Given the description of an element on the screen output the (x, y) to click on. 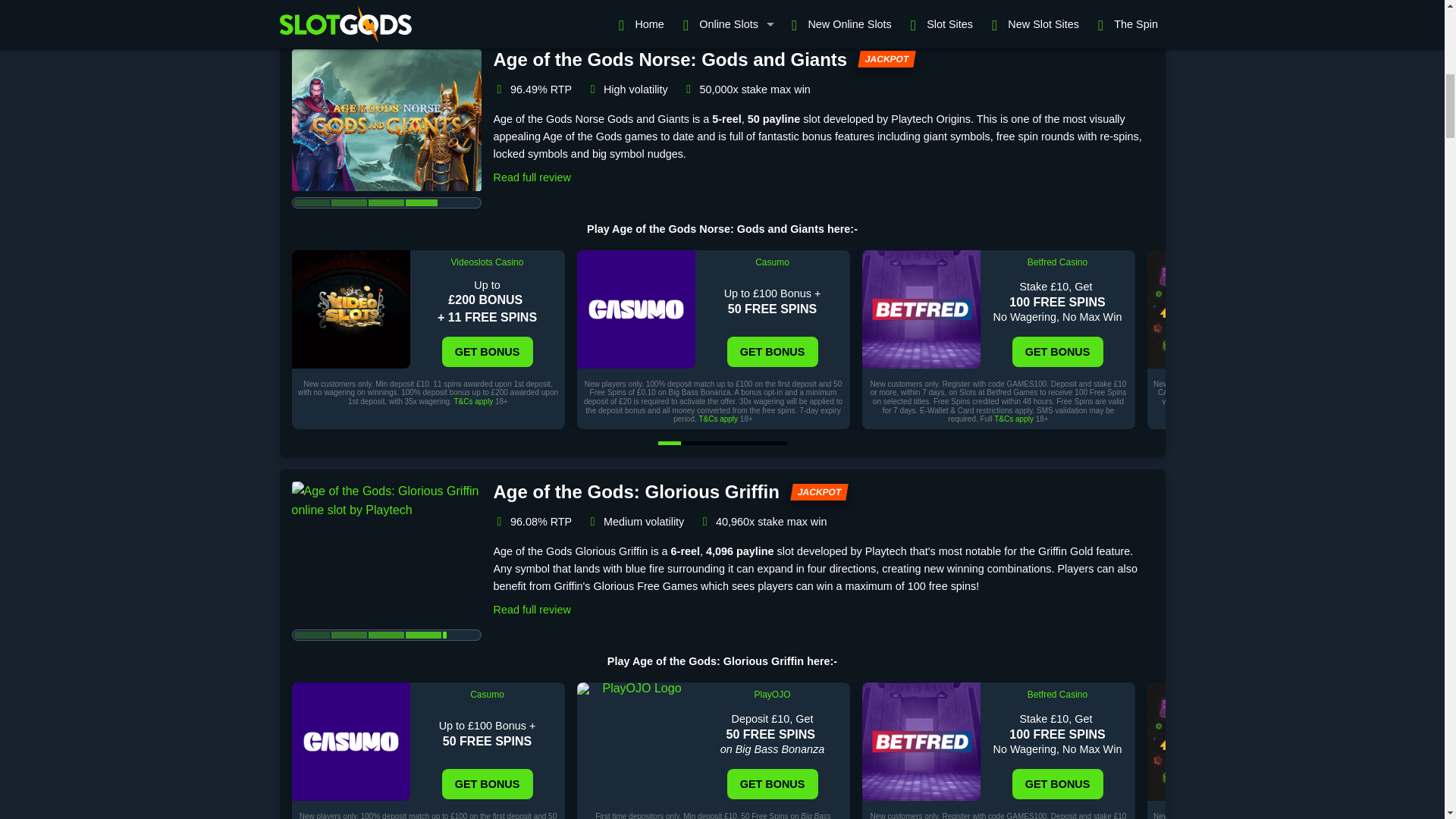
3.9 out of 5 (385, 202)
4.1 out of 5 (385, 634)
New Age of the Gods slots (723, 4)
Best Age of the Gods slots (590, 4)
